Given the description of an element on the screen output the (x, y) to click on. 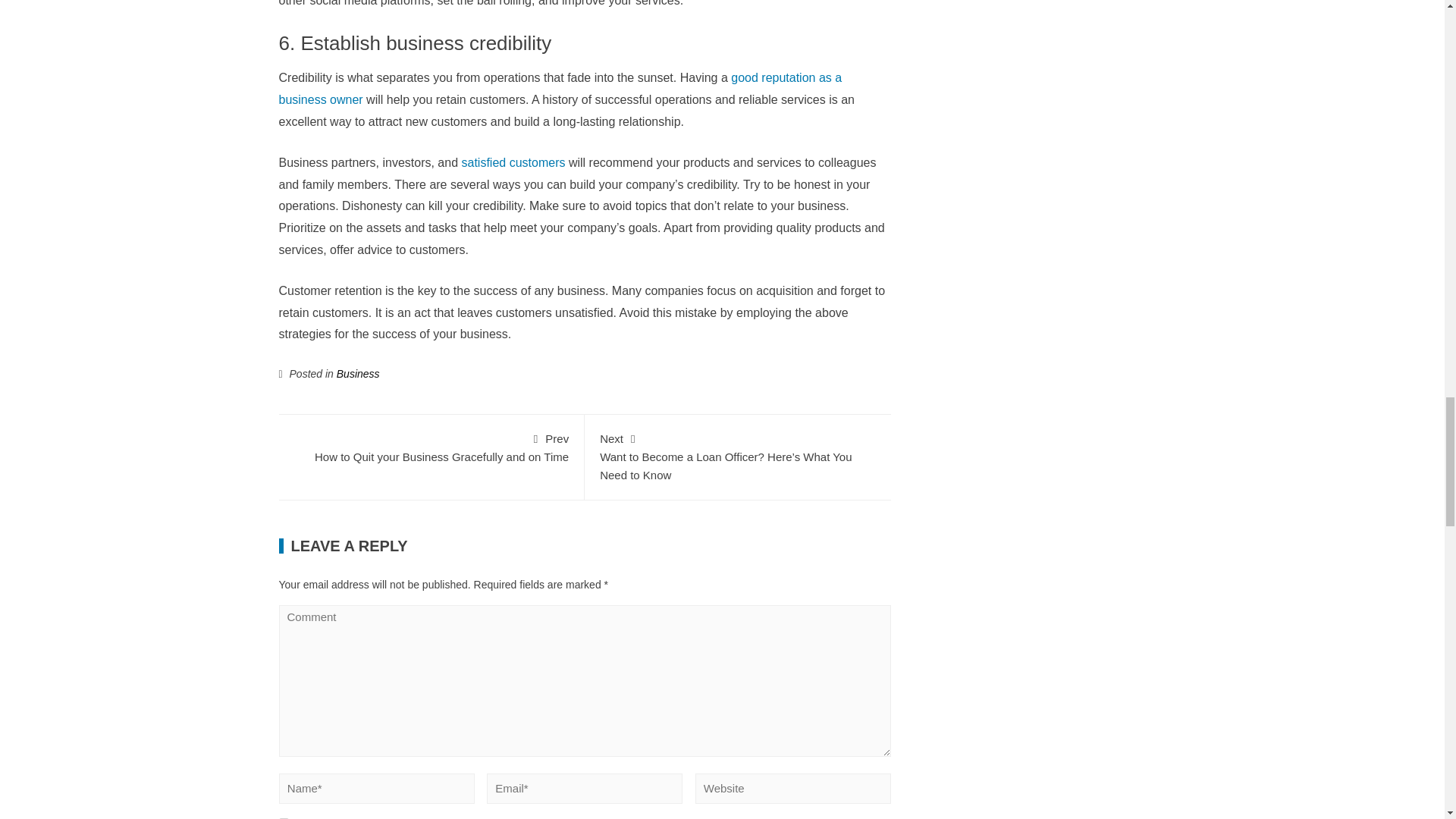
good reputation as a business owner (561, 88)
Business (431, 446)
satisfied customers (358, 373)
yes (513, 162)
